Given the description of an element on the screen output the (x, y) to click on. 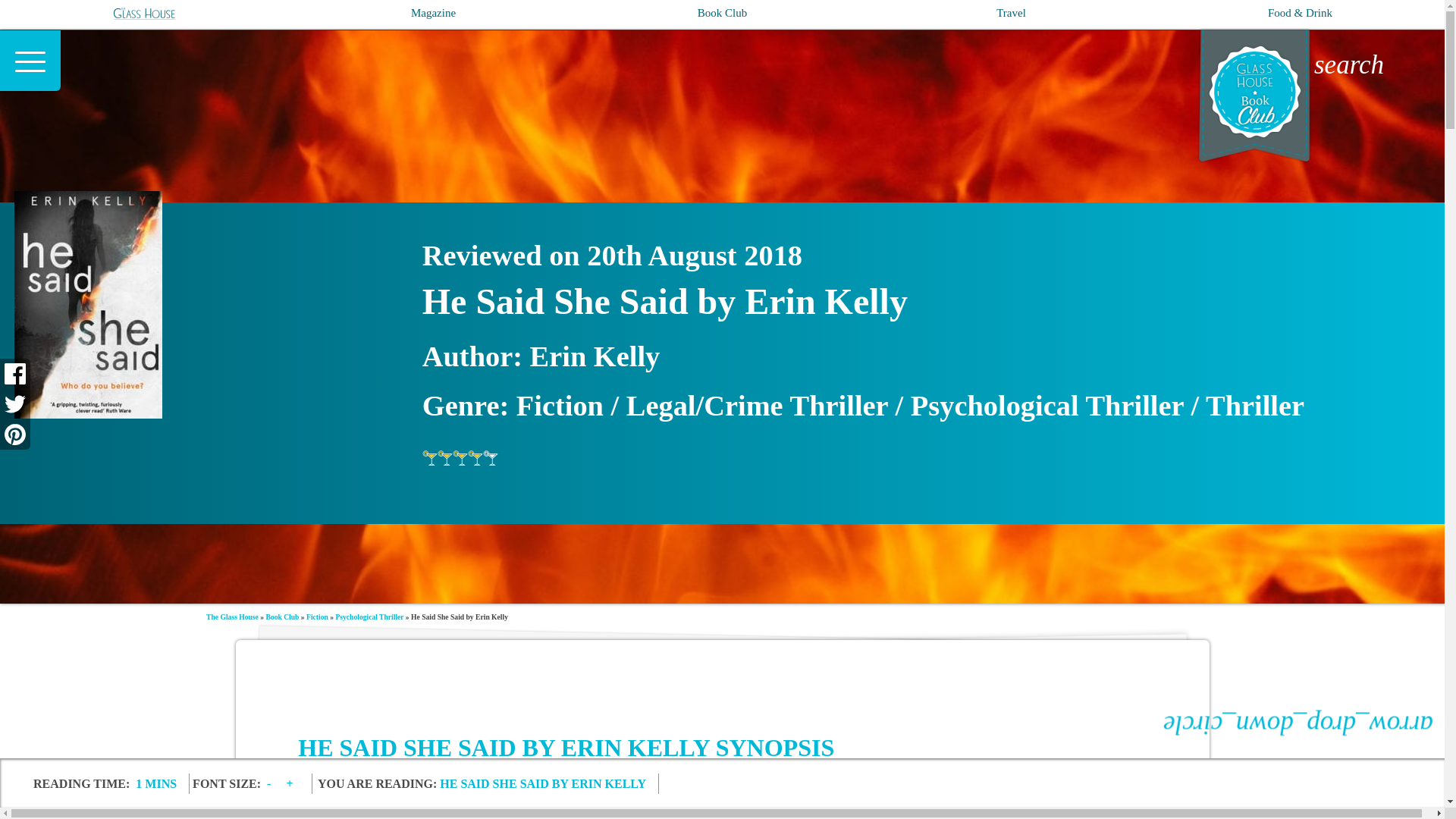
Book Club (721, 12)
Travel (1010, 12)
Magazine (432, 12)
The Glass House Book Club Logo (1310, 99)
